Given the description of an element on the screen output the (x, y) to click on. 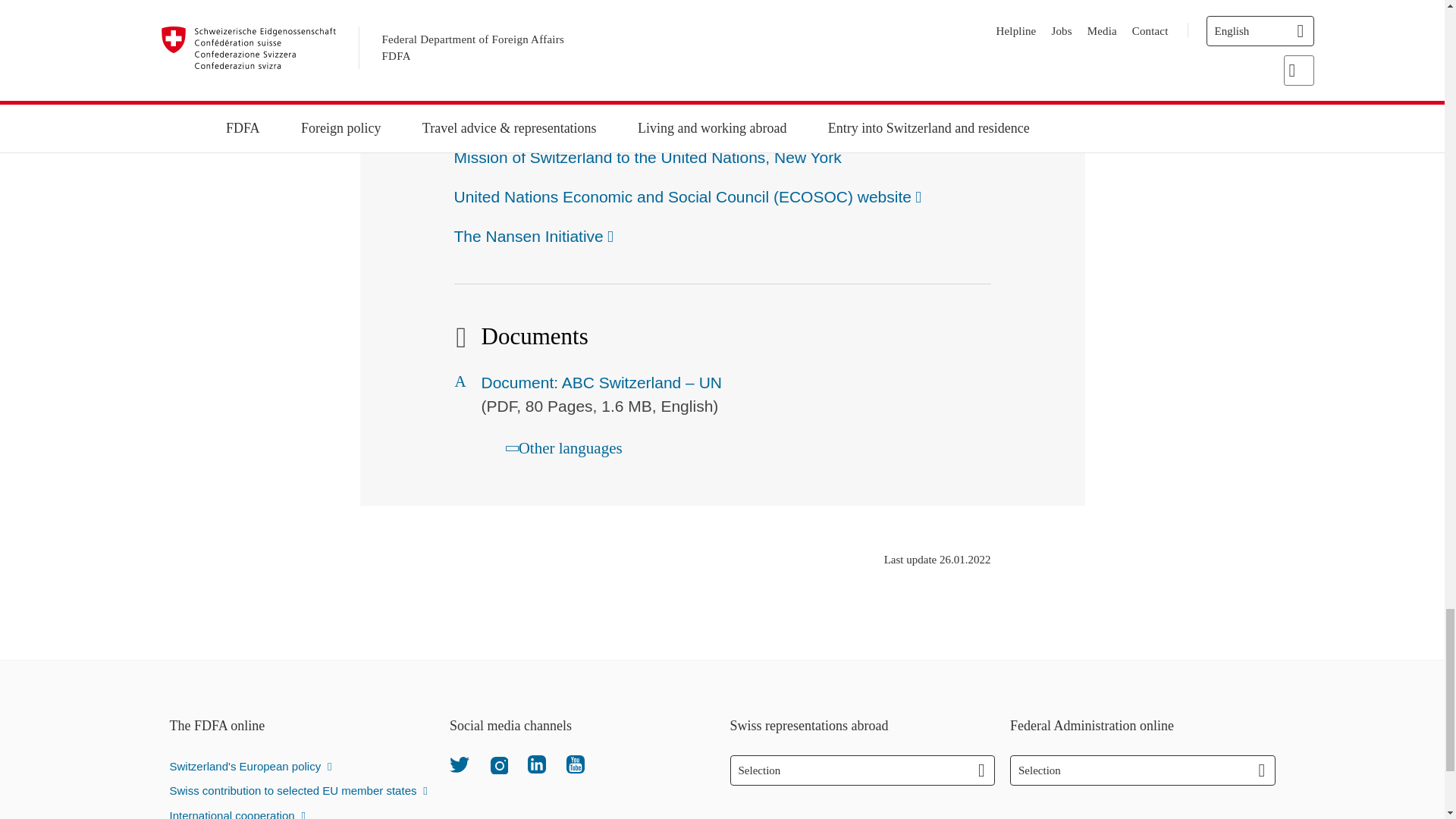
LinkedIn (537, 763)
Twitter (458, 763)
Instagram (497, 763)
